Given the description of an element on the screen output the (x, y) to click on. 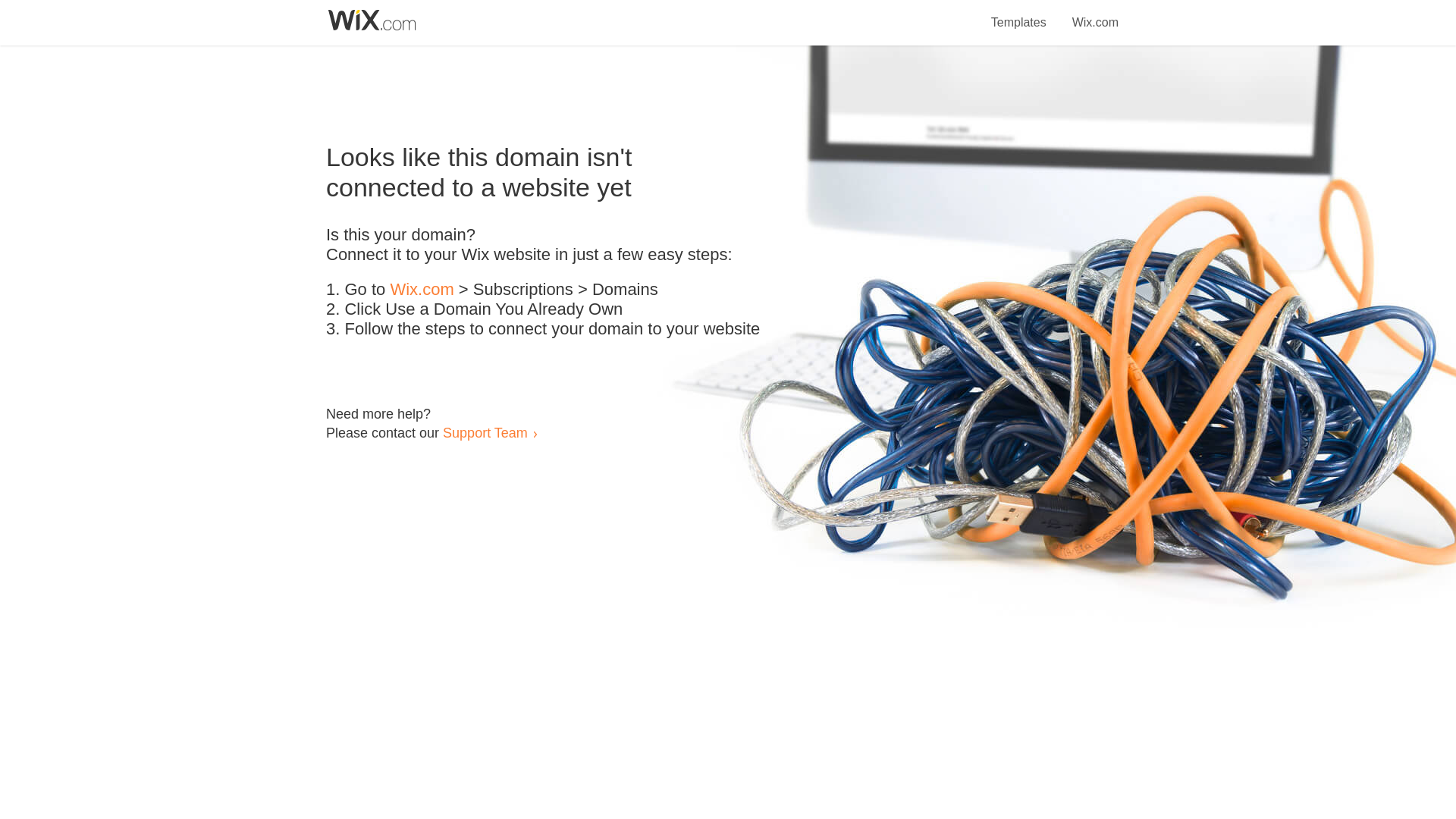
Support Team (484, 432)
Wix.com (421, 289)
Templates (1018, 14)
Wix.com (1095, 14)
